Given the description of an element on the screen output the (x, y) to click on. 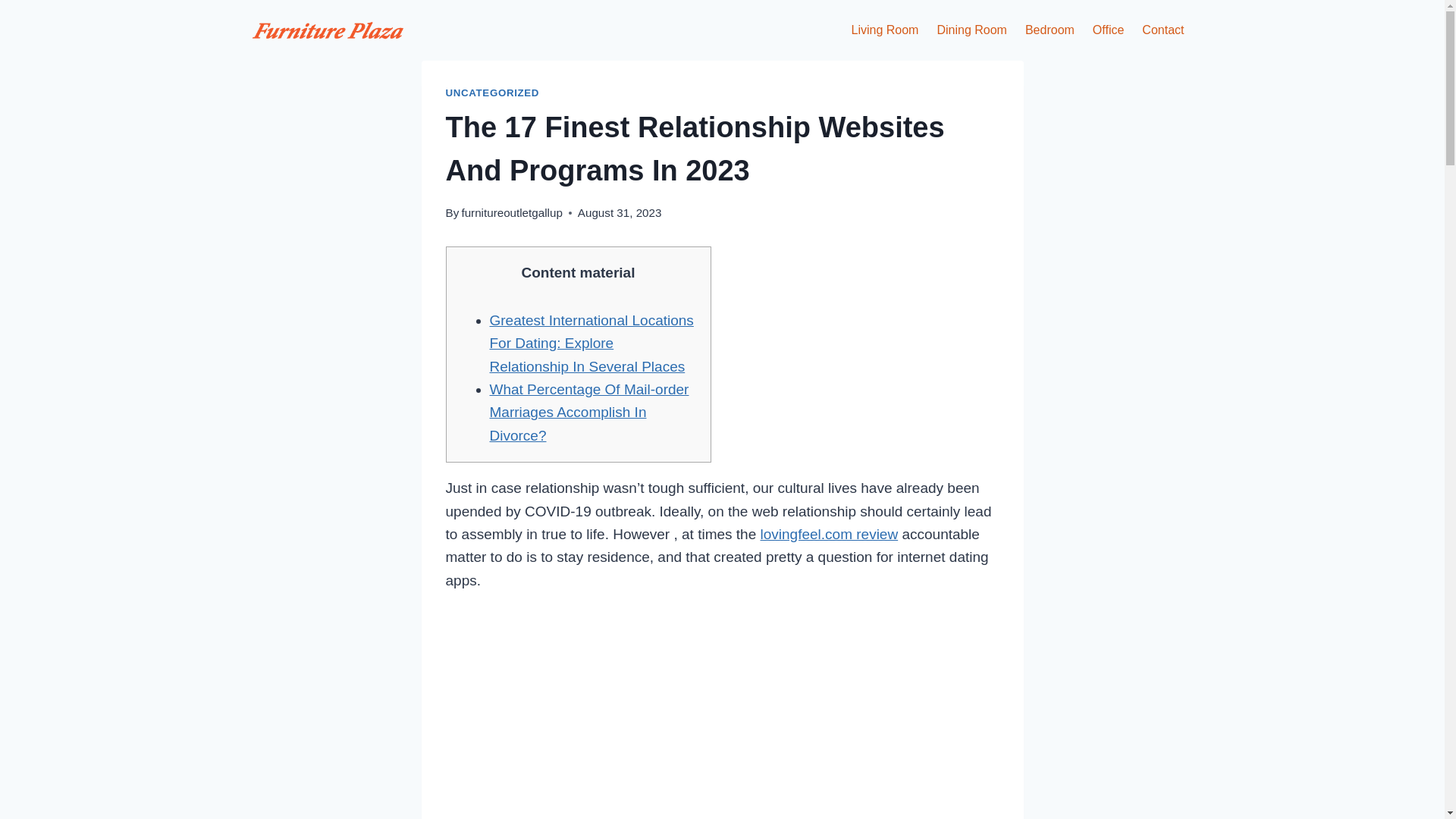
Living Room (885, 30)
lovingfeel.com review (829, 534)
Dining Room (970, 30)
Contact (1162, 30)
UNCATEGORIZED (492, 92)
furnitureoutletgallup (511, 212)
Bedroom (1049, 30)
Office (1108, 30)
